Given the description of an element on the screen output the (x, y) to click on. 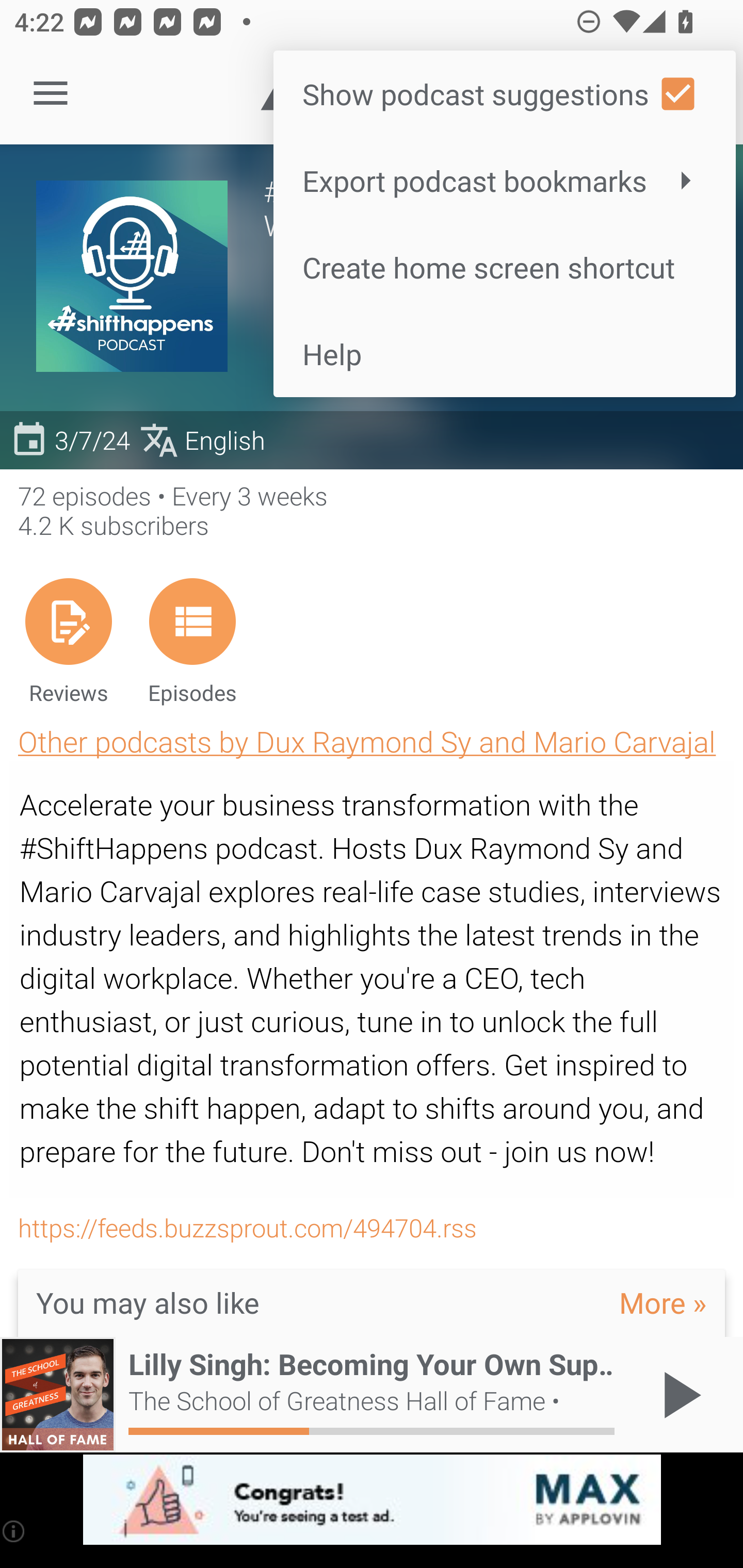
Show podcast suggestions (504, 93)
Export podcast bookmarks (504, 180)
Create home screen shortcut (504, 267)
Help (504, 353)
